Given the description of an element on the screen output the (x, y) to click on. 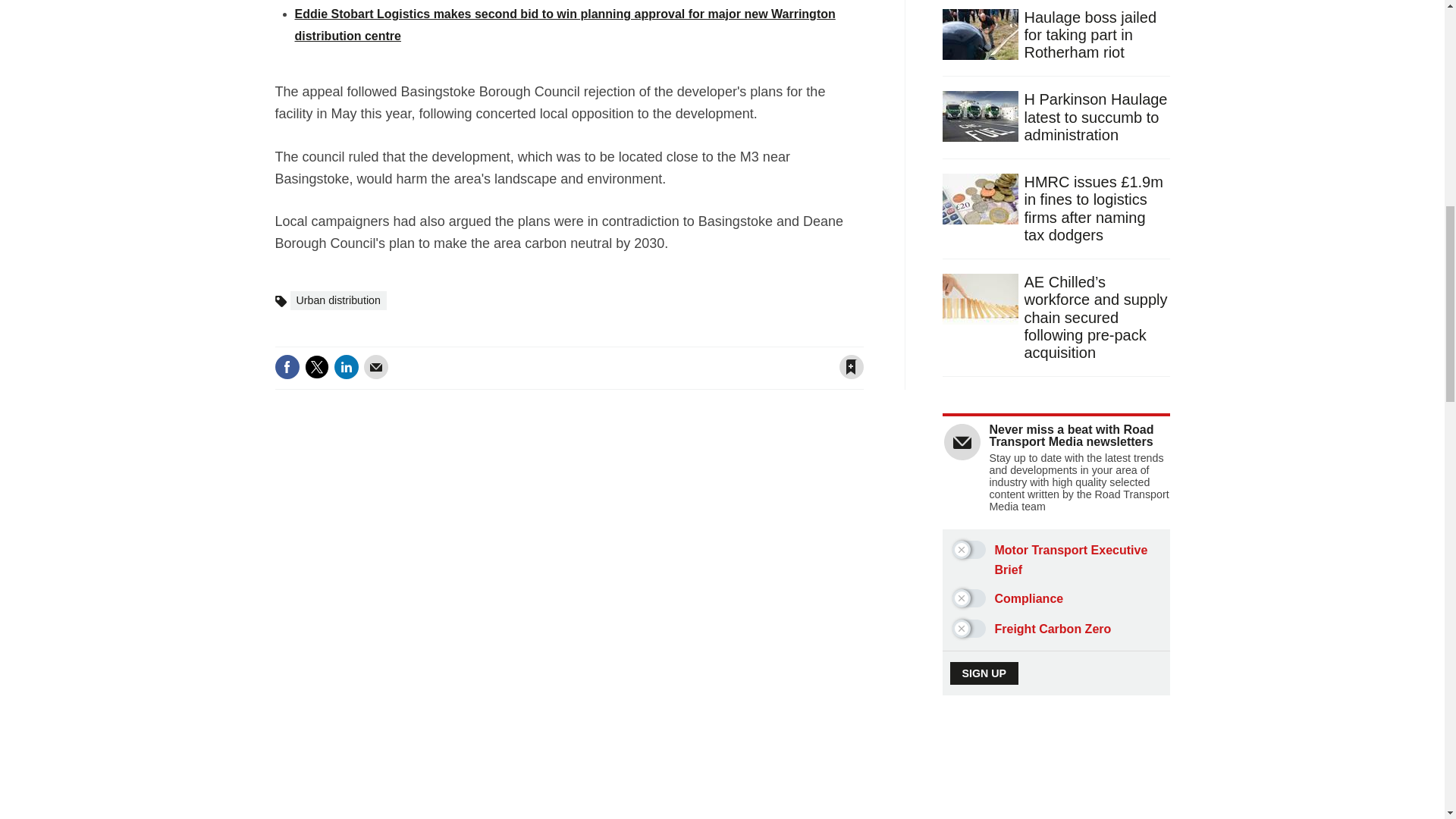
3rd party ad content (1056, 787)
Share this on Twitter (316, 366)
Share this on Linked in (345, 366)
Share this on Facebook (286, 366)
Email this article (376, 366)
